Given the description of an element on the screen output the (x, y) to click on. 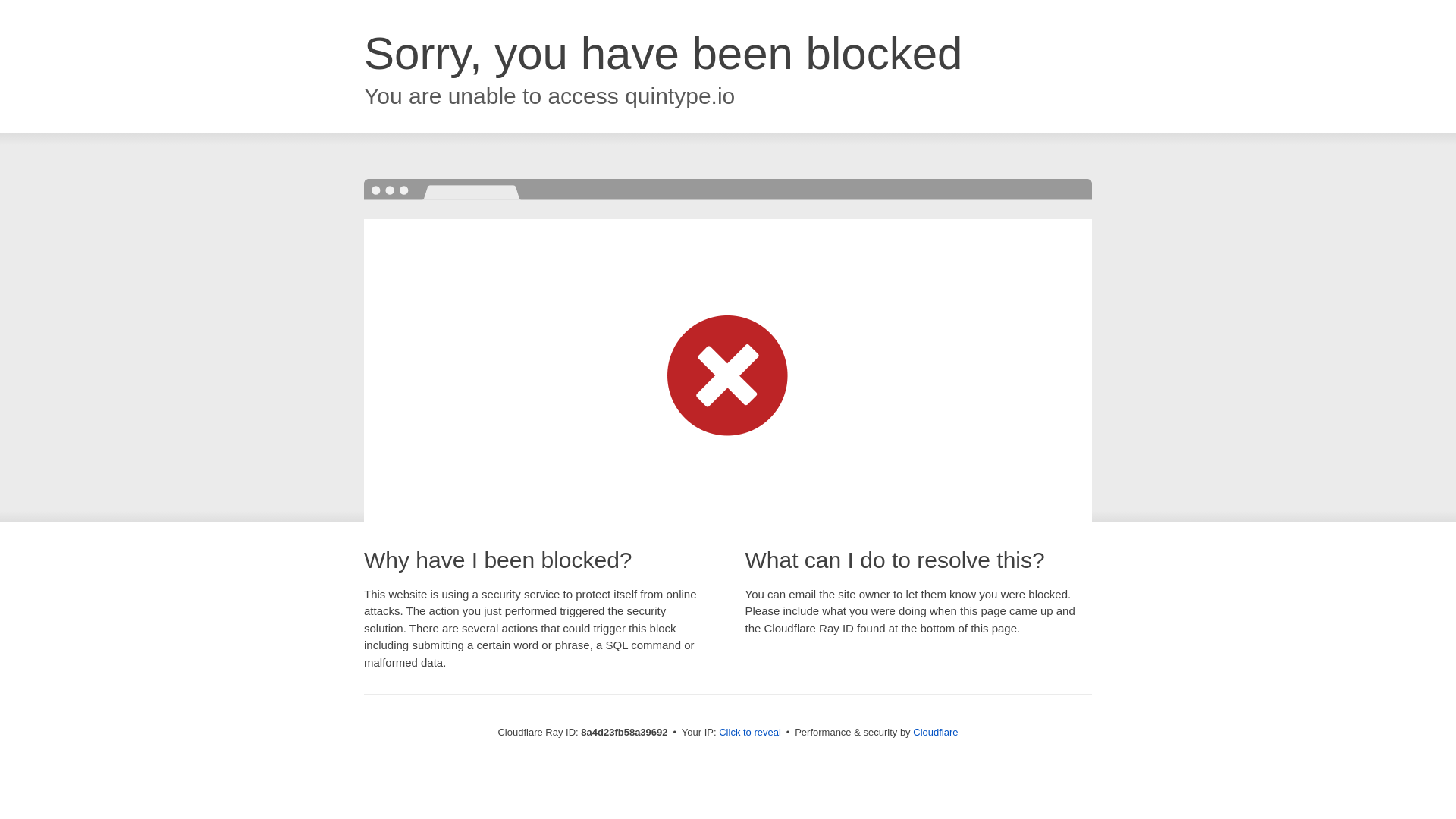
Cloudflare (935, 731)
Click to reveal (749, 732)
